Given the description of an element on the screen output the (x, y) to click on. 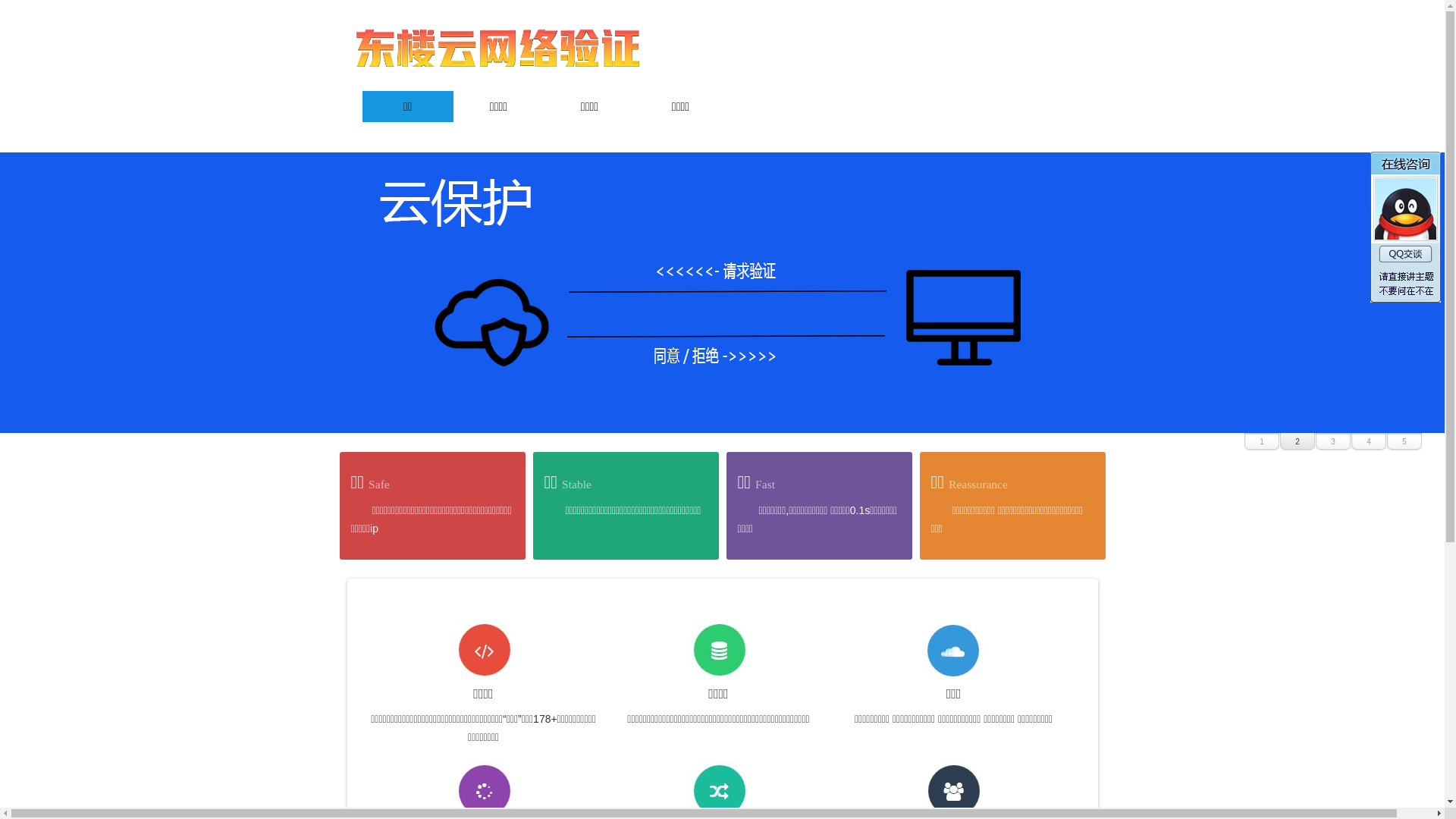
5 Element type: text (1403, 442)
1 Element type: text (1261, 442)
2 Element type: text (1297, 442)
3 Element type: text (1332, 442)
4 Element type: text (1368, 442)
